Given the description of an element on the screen output the (x, y) to click on. 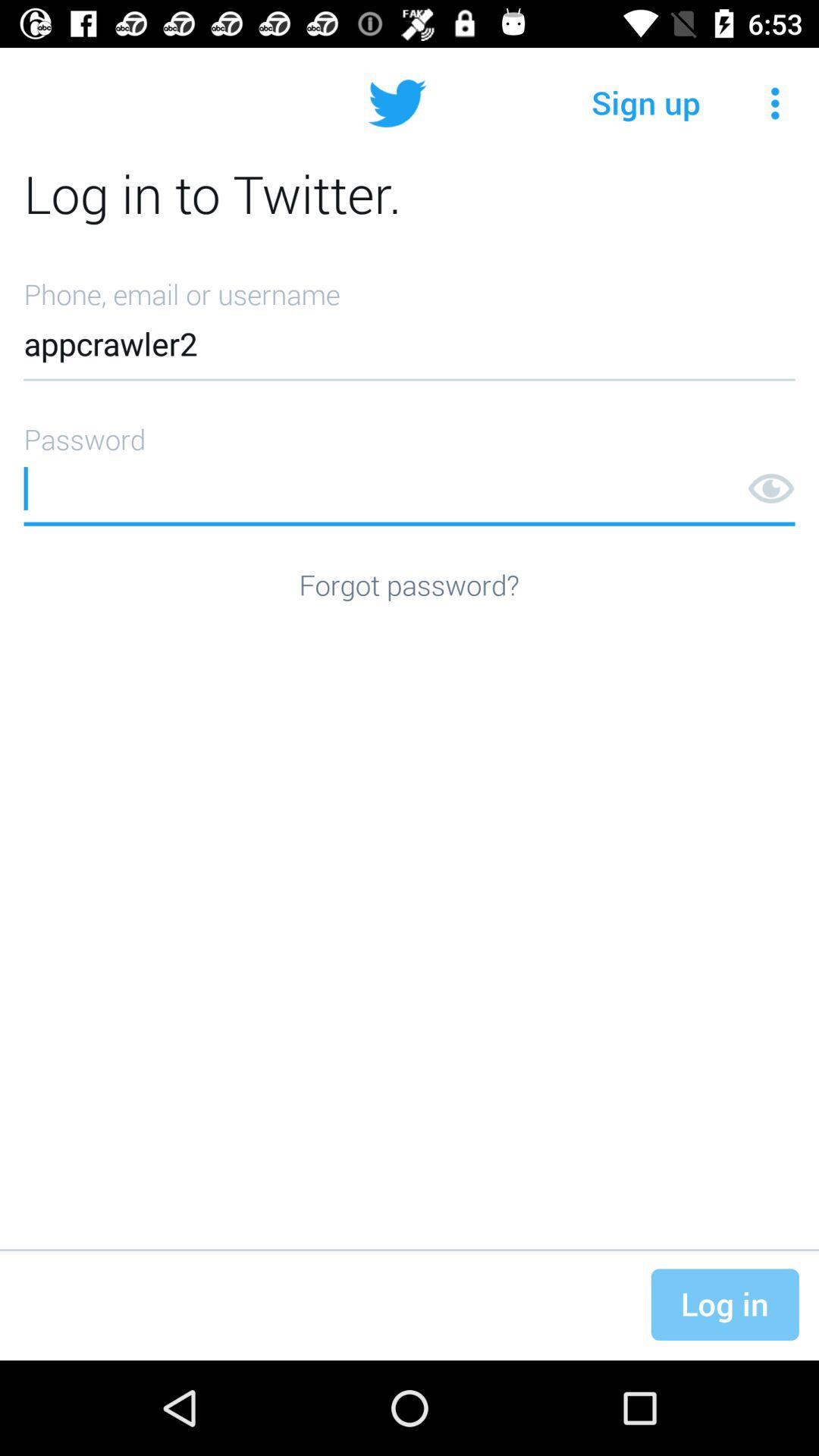
open icon below appcrawler2 icon (409, 469)
